Given the description of an element on the screen output the (x, y) to click on. 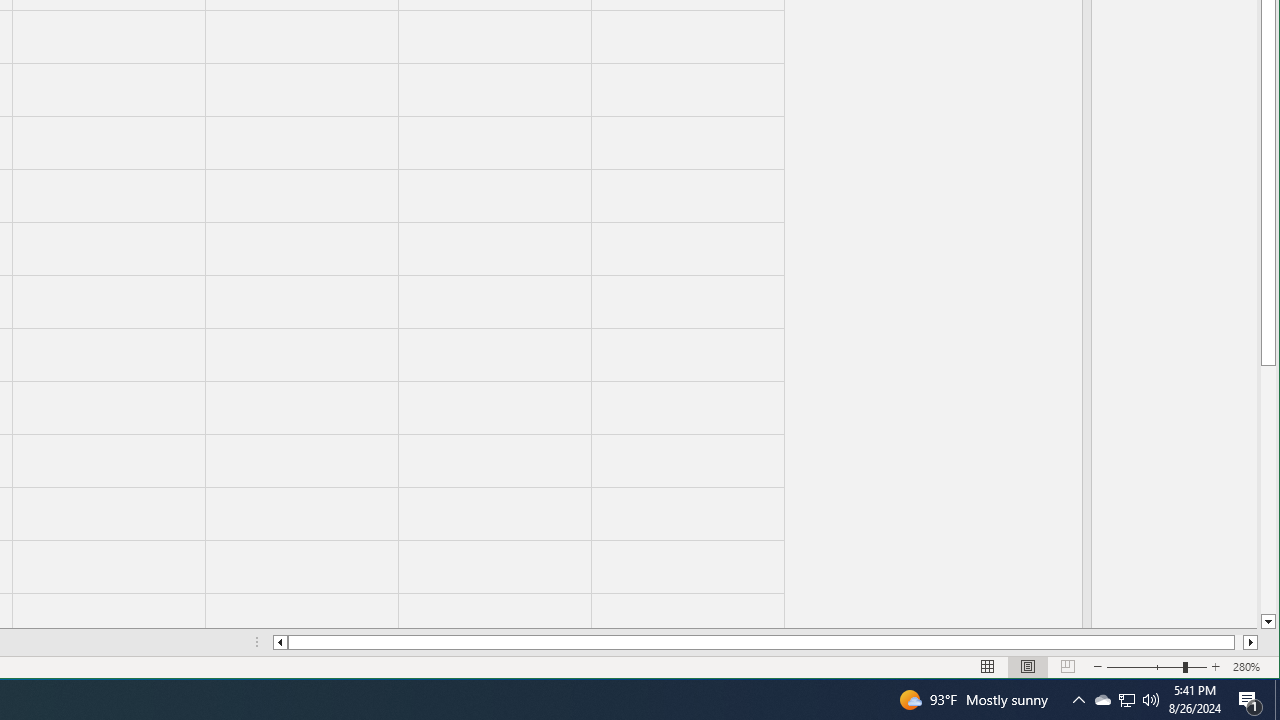
Page right (1238, 642)
Page down (1268, 489)
Notification Chevron (1078, 699)
Zoom Out (1144, 667)
